Given the description of an element on the screen output the (x, y) to click on. 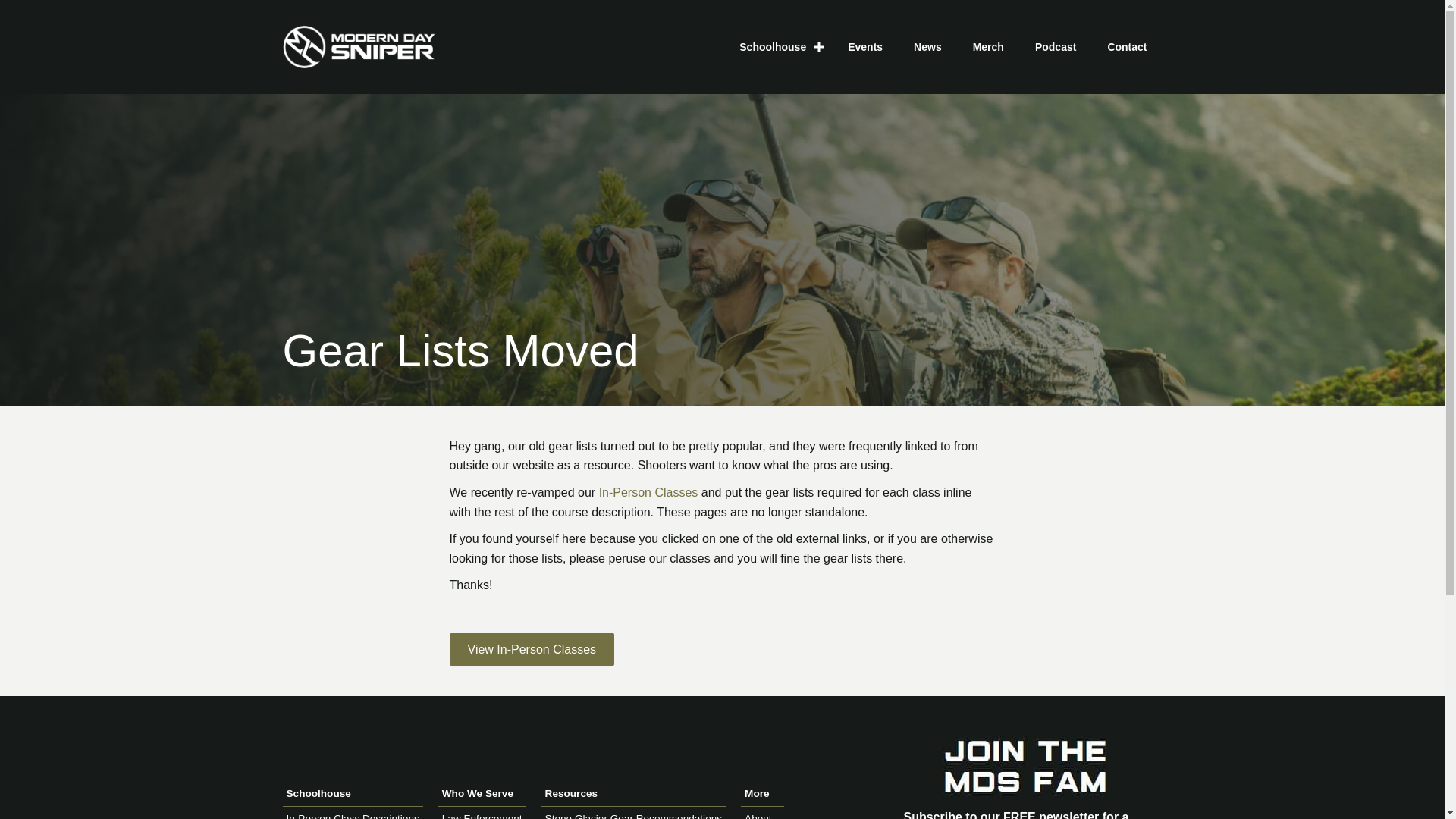
In-Person Class Descriptions (352, 816)
Contact (1126, 46)
Schoolhouse (777, 46)
About (757, 816)
Podcast (1055, 46)
Resources (633, 794)
Who We Serve (481, 794)
In-Person Classes (648, 492)
More (762, 794)
Schoolhouse (352, 794)
